Given the description of an element on the screen output the (x, y) to click on. 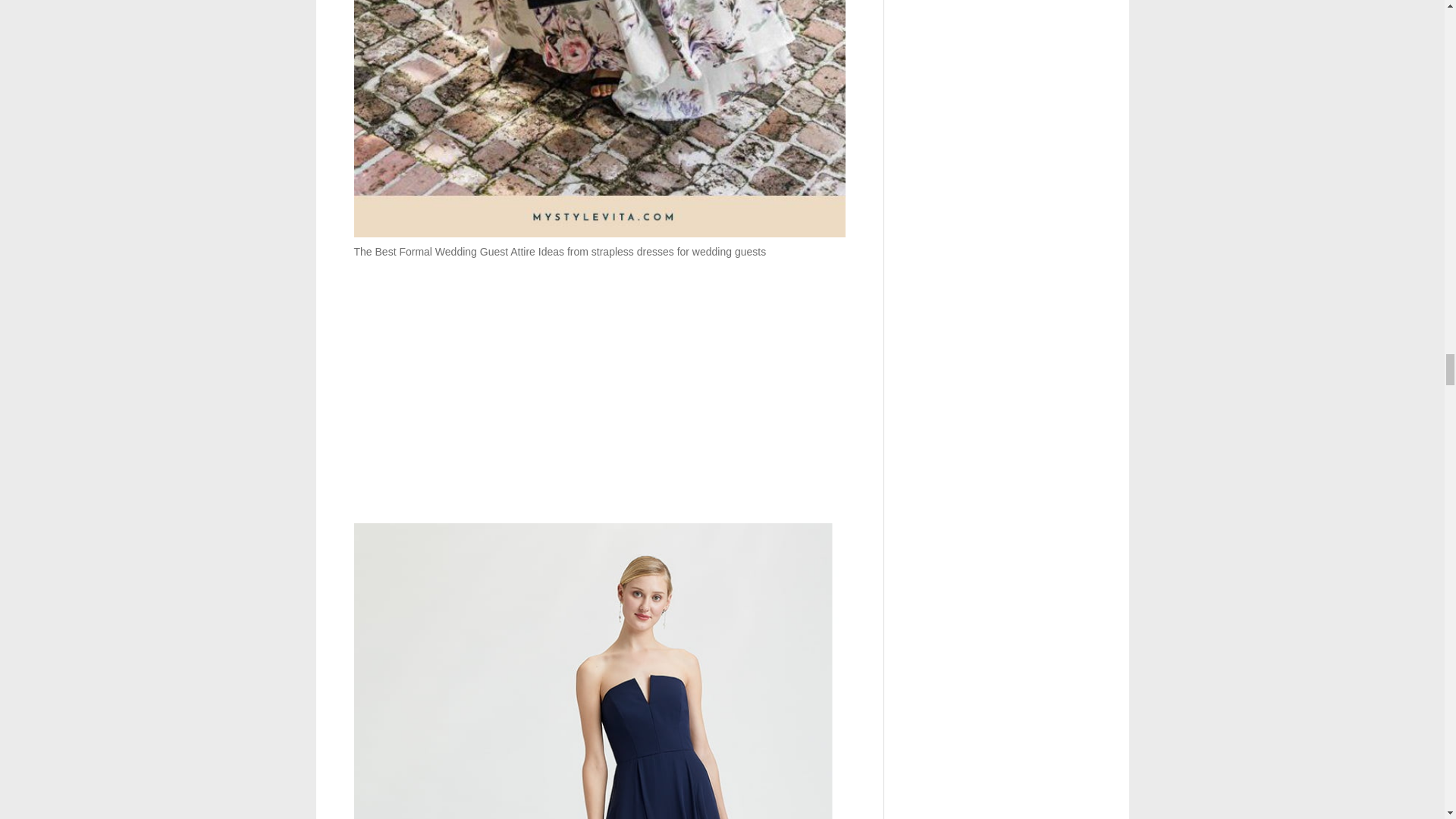
The Best Formal Wedding Guest Attire Ideas (598, 119)
